Given the description of an element on the screen output the (x, y) to click on. 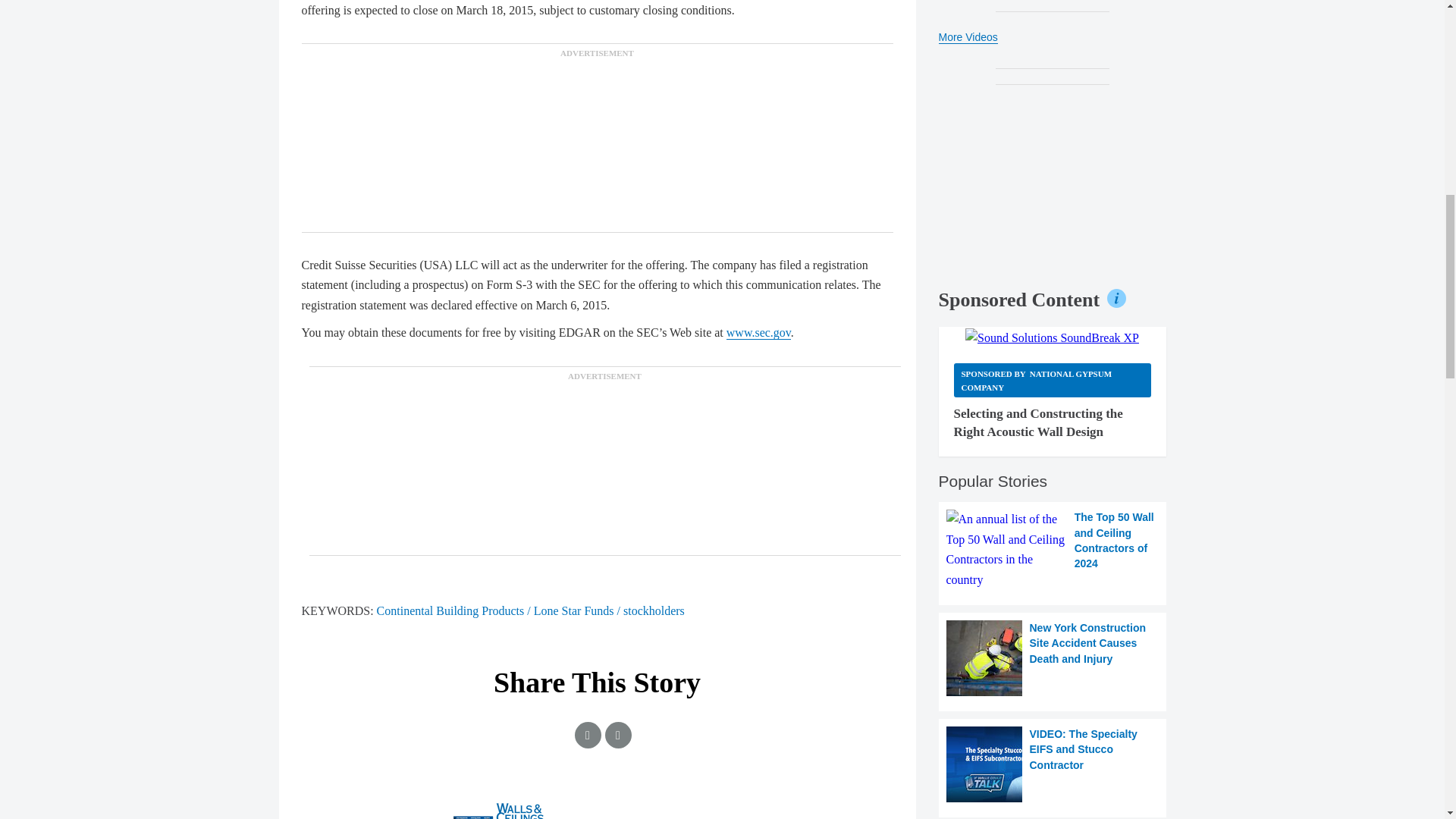
New York Construction Site Accident Causes Death and Injury (1052, 657)
Sponsored by National Gypsum Company (1052, 380)
Sound Solutions SoundBreak XP (1051, 338)
VIDEO: The Specialty EIFS and Stucco Contractor (1052, 764)
The Top 50 Wall and Ceiling Contractors of 2024 (1052, 549)
